Given the description of an element on the screen output the (x, y) to click on. 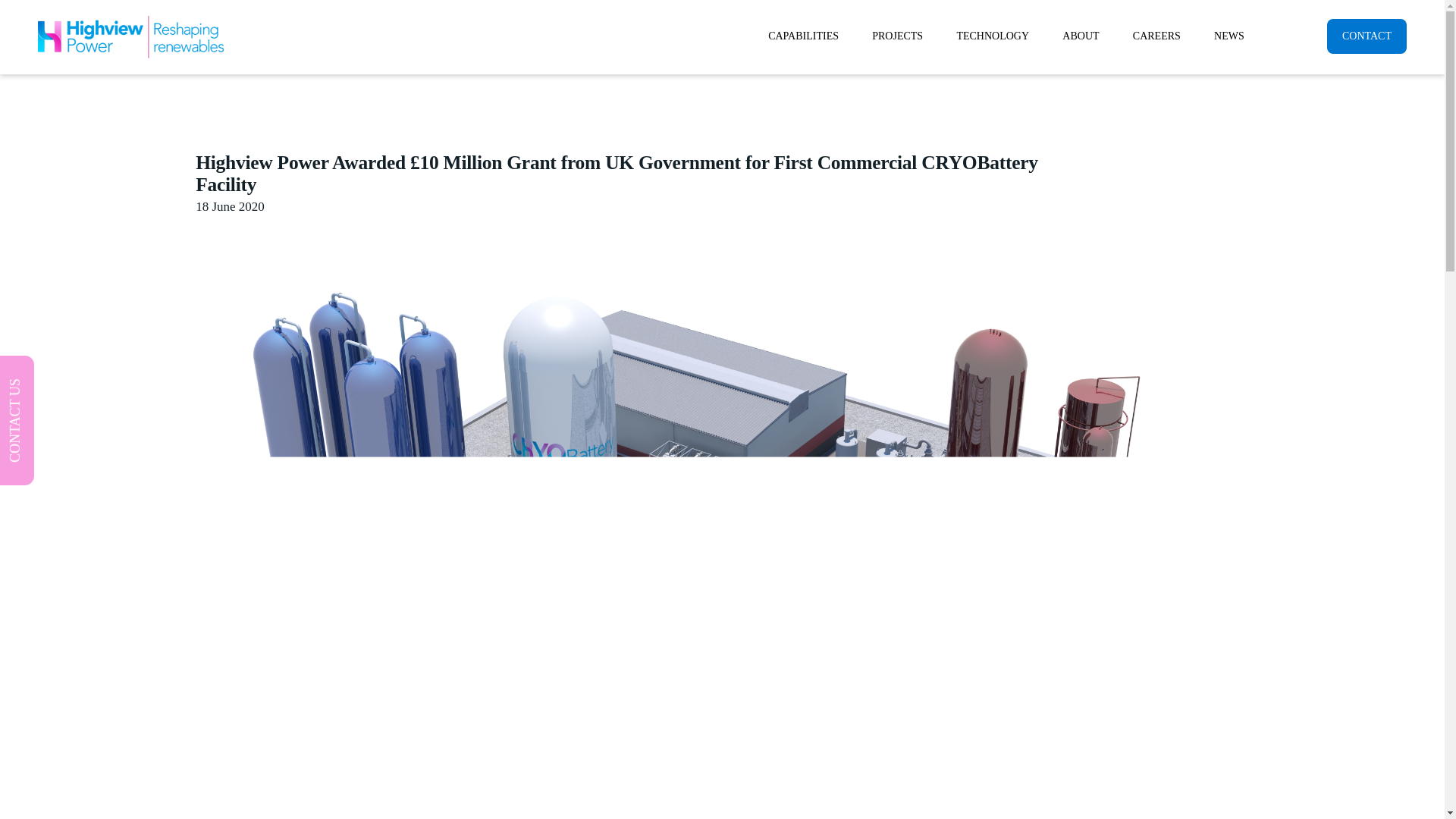
CAREERS (1156, 36)
TECHNOLOGY (991, 36)
ABOUT (1079, 36)
CAPABILITIES (802, 36)
PROJECTS (897, 36)
CONTACT US (62, 374)
NEWS (1228, 36)
CONTACT (1366, 36)
